Given the description of an element on the screen output the (x, y) to click on. 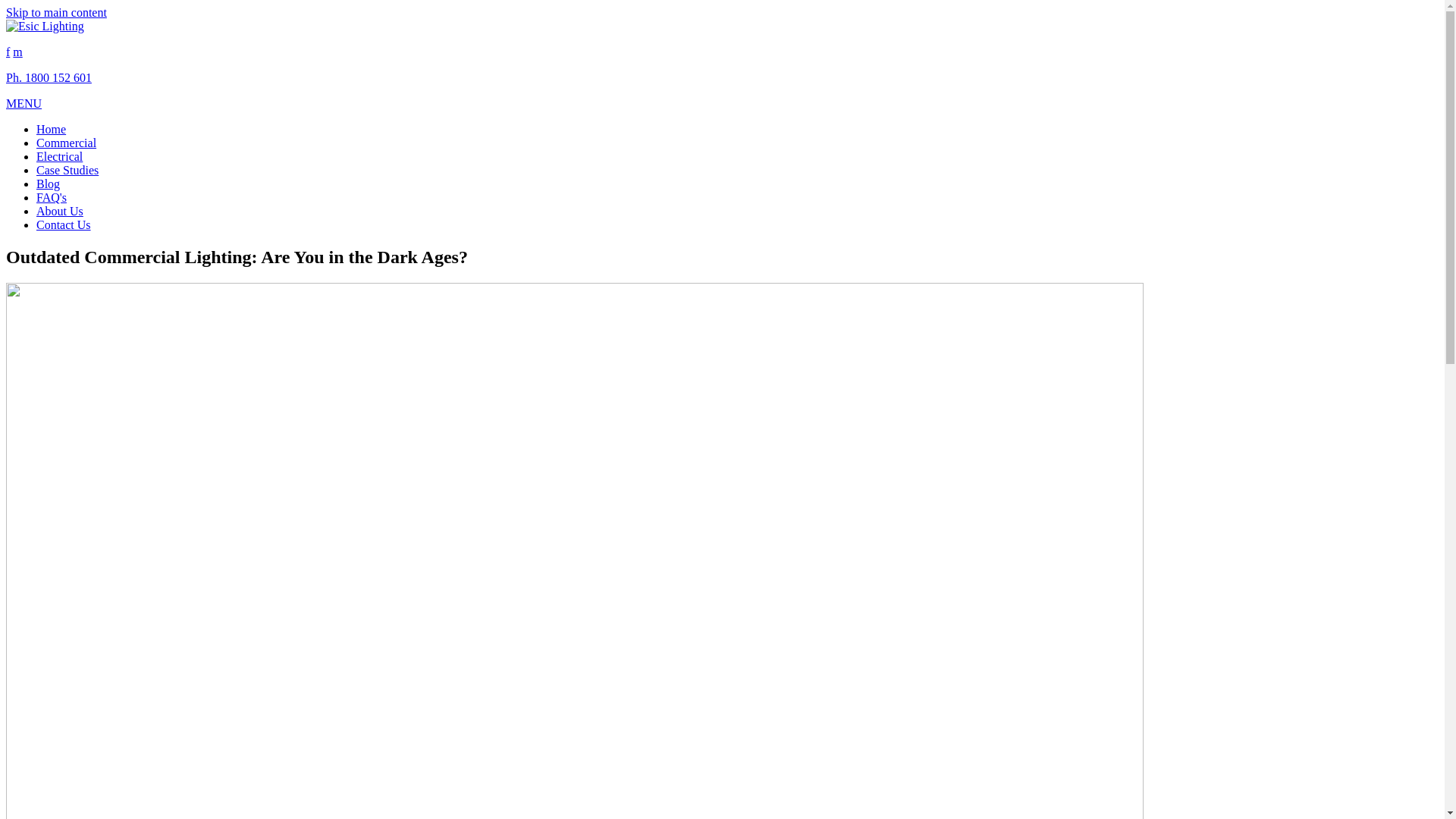
About Us Element type: text (59, 210)
Home Element type: text (50, 128)
Case Studies Element type: text (67, 169)
Commercial Element type: text (66, 142)
Return to the Esic Lighting home page Element type: hover (45, 25)
m Element type: text (16, 51)
Blog Element type: text (47, 183)
MENU Element type: text (23, 103)
Electrical Element type: text (59, 156)
Ph. 1800 152 601 Element type: text (48, 77)
Skip to main content Element type: text (56, 12)
FAQ's Element type: text (51, 197)
f Element type: text (7, 51)
Contact Us Element type: text (63, 224)
